Given the description of an element on the screen output the (x, y) to click on. 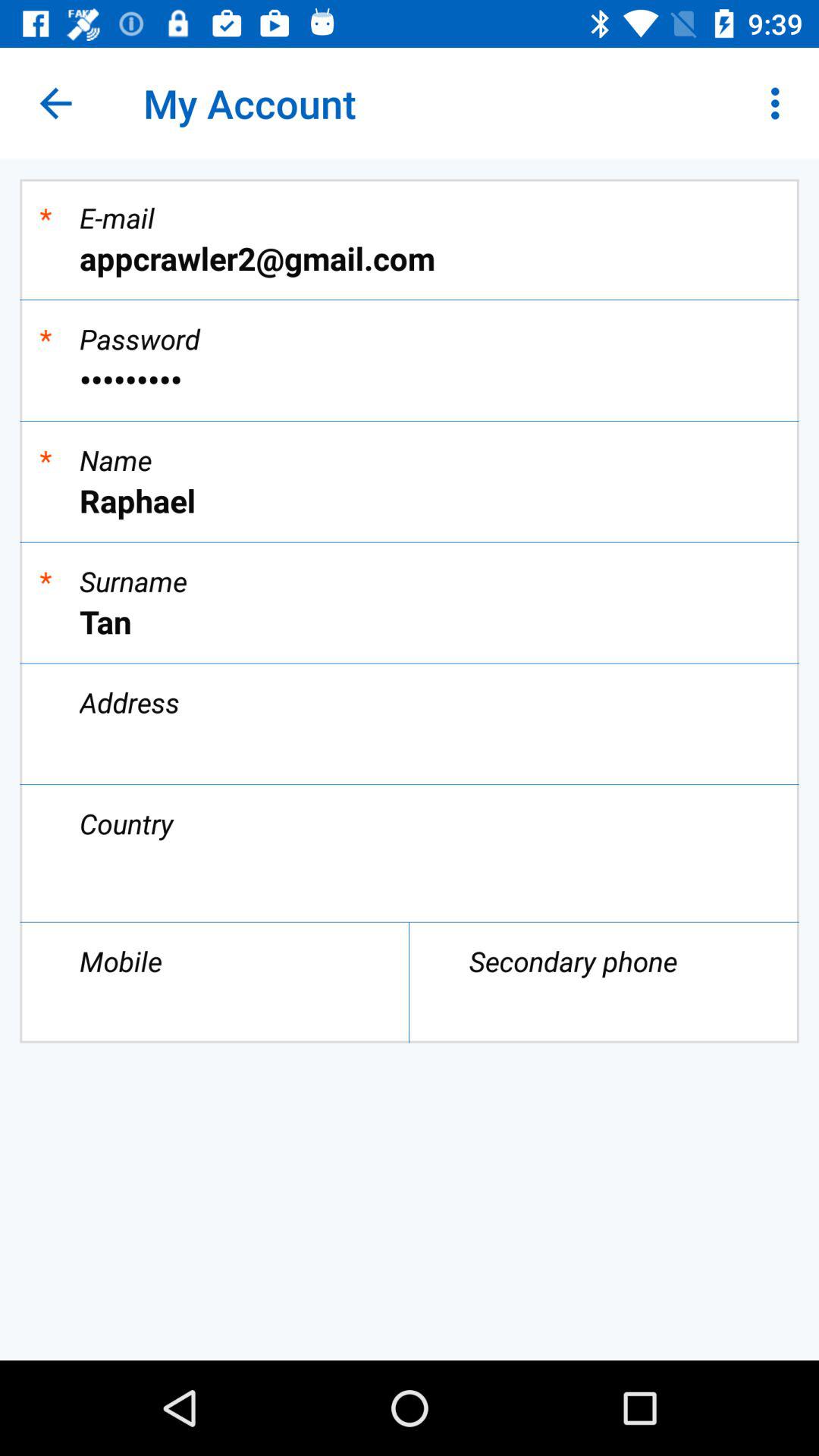
press item next to my account icon (55, 103)
